Given the description of an element on the screen output the (x, y) to click on. 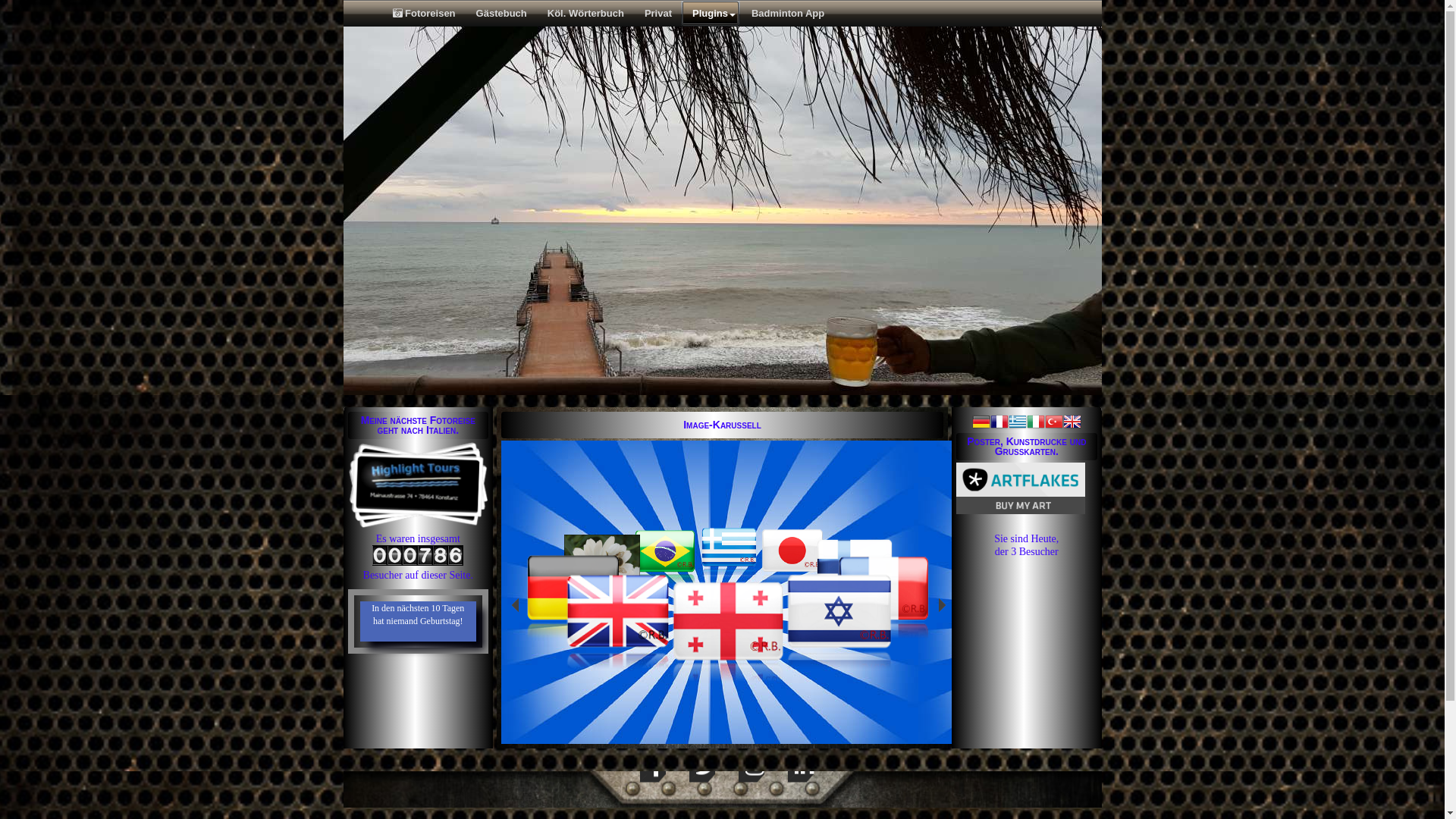
Test Element type: hover (664, 549)
Italienisch Element type: hover (1035, 423)
Homepage von Robert Barion Element type: hover (618, 659)
  Kontakt Element type: text (442, 668)
Test Element type: hover (664, 579)
Homepage von Robby Element type: hover (573, 585)
Englisch Element type: hover (1072, 423)
Homepage von Robert Barion Element type: hover (617, 608)
Deutsch Element type: hover (981, 423)
Homepage von Robby Element type: hover (573, 630)
Plugins Element type: text (710, 13)
Badminton App Element type: text (786, 13)
Privat Element type: text (656, 13)
  Impressum Element type: text (381, 668)
  Datenschutz Element type: text (985, 671)
Webmaster@barion.be Element type: text (880, 745)
Fotoreisen Element type: text (422, 13)
Griechisch Element type: hover (1017, 423)
